Given the description of an element on the screen output the (x, y) to click on. 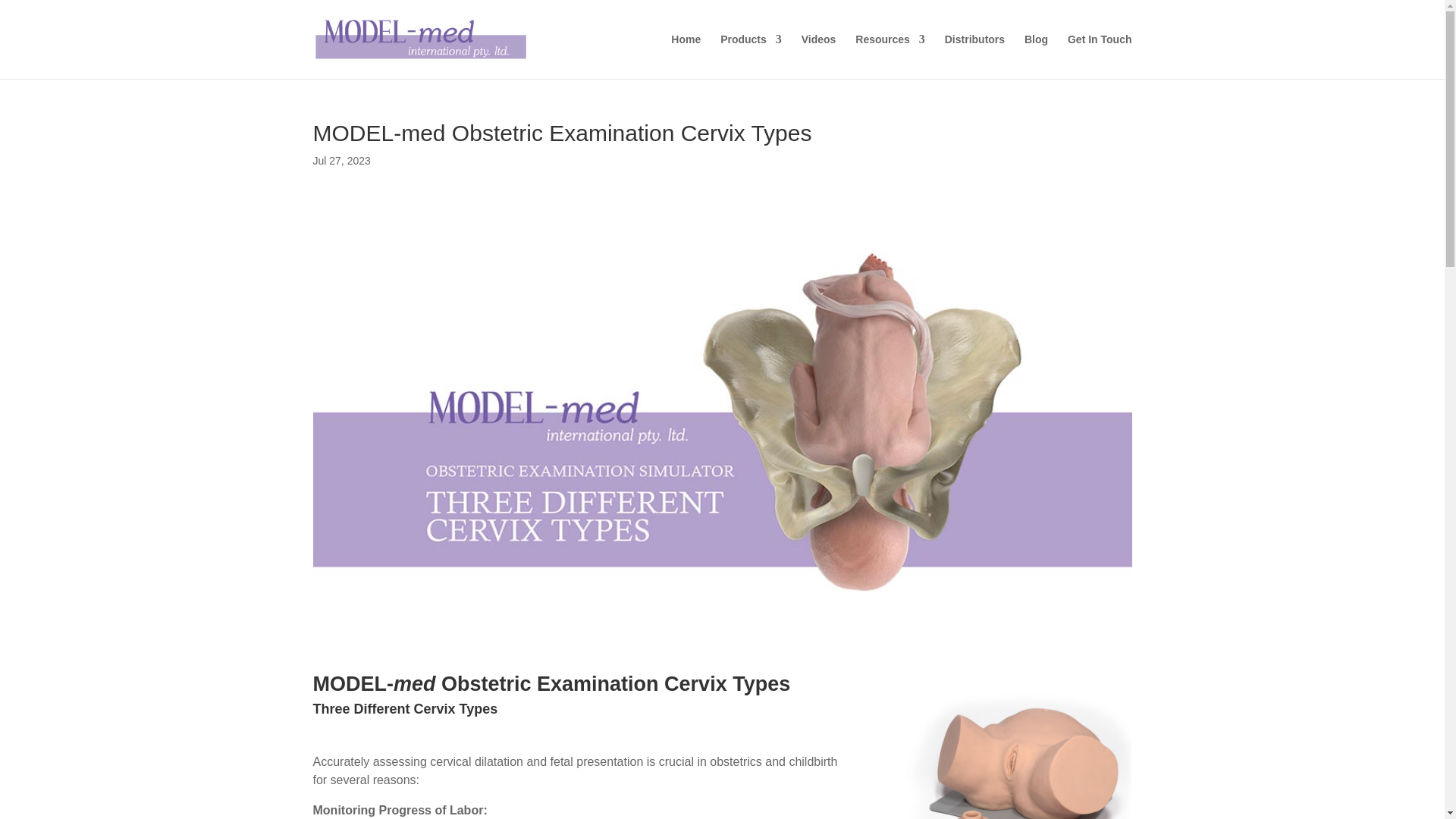
Get In Touch (1099, 56)
Resources (890, 56)
Distributors (974, 56)
Products (750, 56)
